Given the description of an element on the screen output the (x, y) to click on. 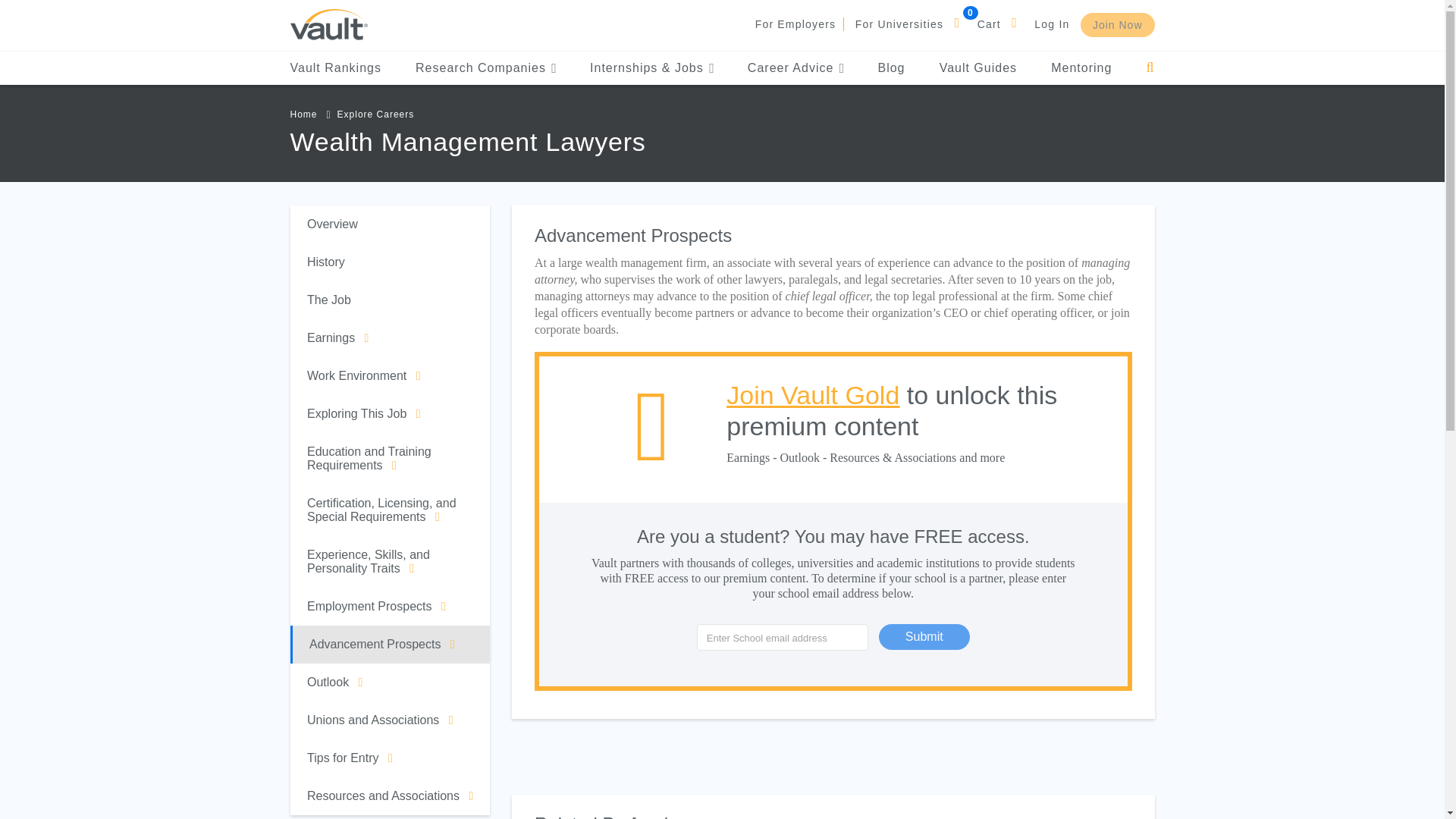
Vault Rankings (334, 67)
Log In (1050, 24)
Join Now (1117, 24)
For Employers (795, 24)
For Universities (899, 24)
Cart (988, 24)
